Given the description of an element on the screen output the (x, y) to click on. 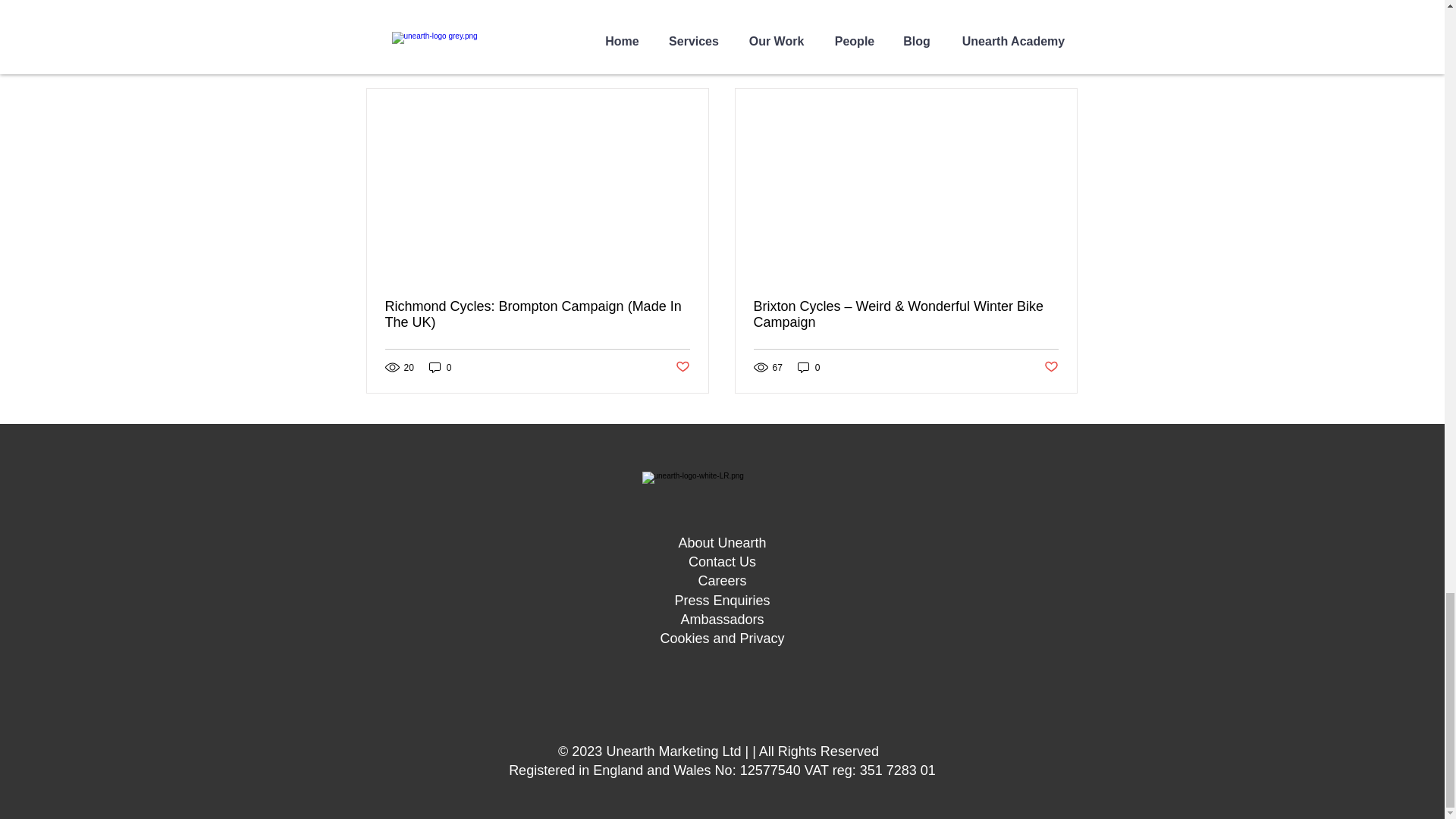
Post not marked as liked (1050, 367)
Press Enquiries (722, 600)
Post not marked as liked (681, 367)
About Unearth (721, 542)
0 (440, 367)
Contact Us (721, 561)
0 (809, 367)
Careers (721, 580)
See All (1060, 61)
